Given the description of an element on the screen output the (x, y) to click on. 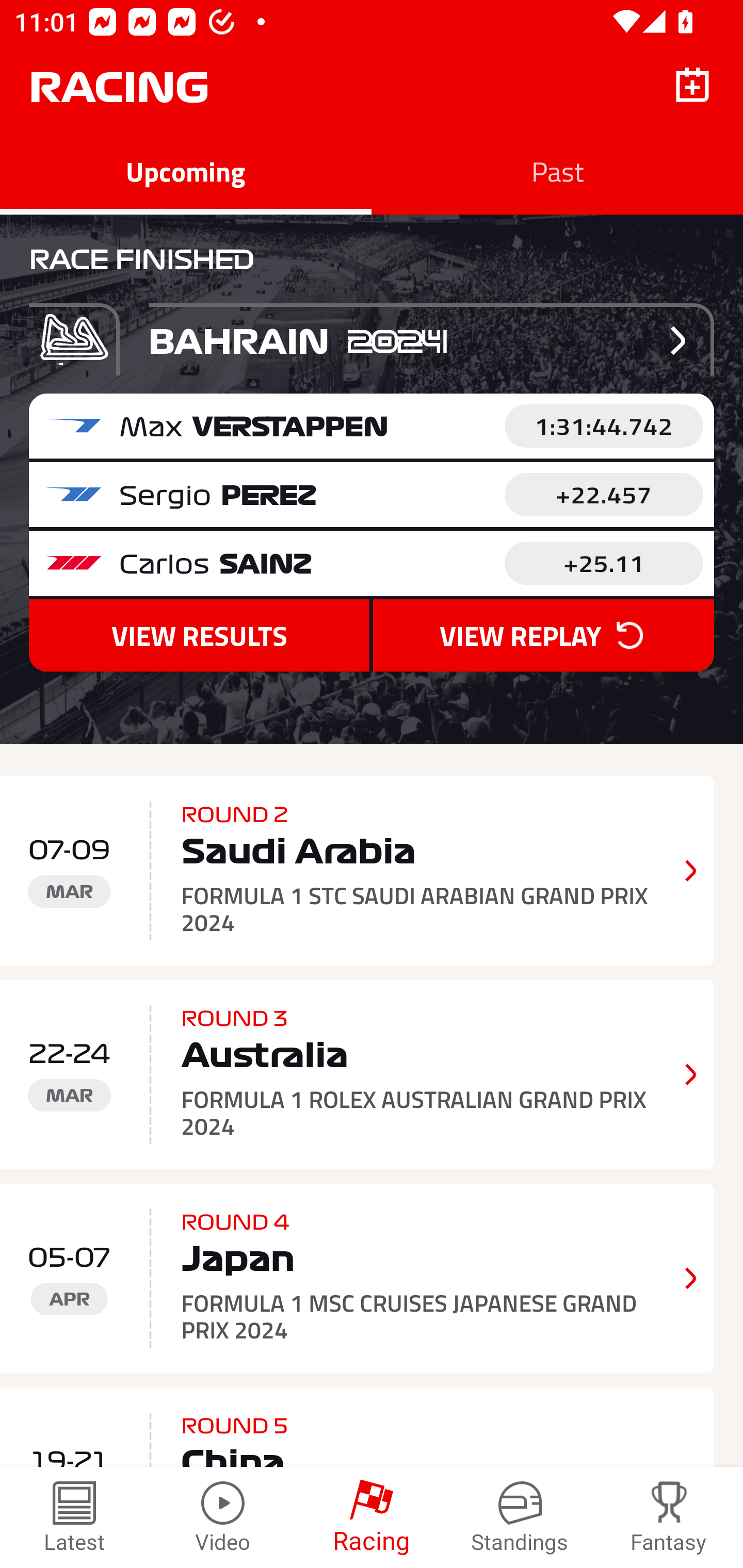
Past (557, 171)
VIEW RESULTS (198, 634)
VIEW REPLAY (543, 634)
Latest (74, 1517)
Video (222, 1517)
Standings (519, 1517)
Fantasy (668, 1517)
